Given the description of an element on the screen output the (x, y) to click on. 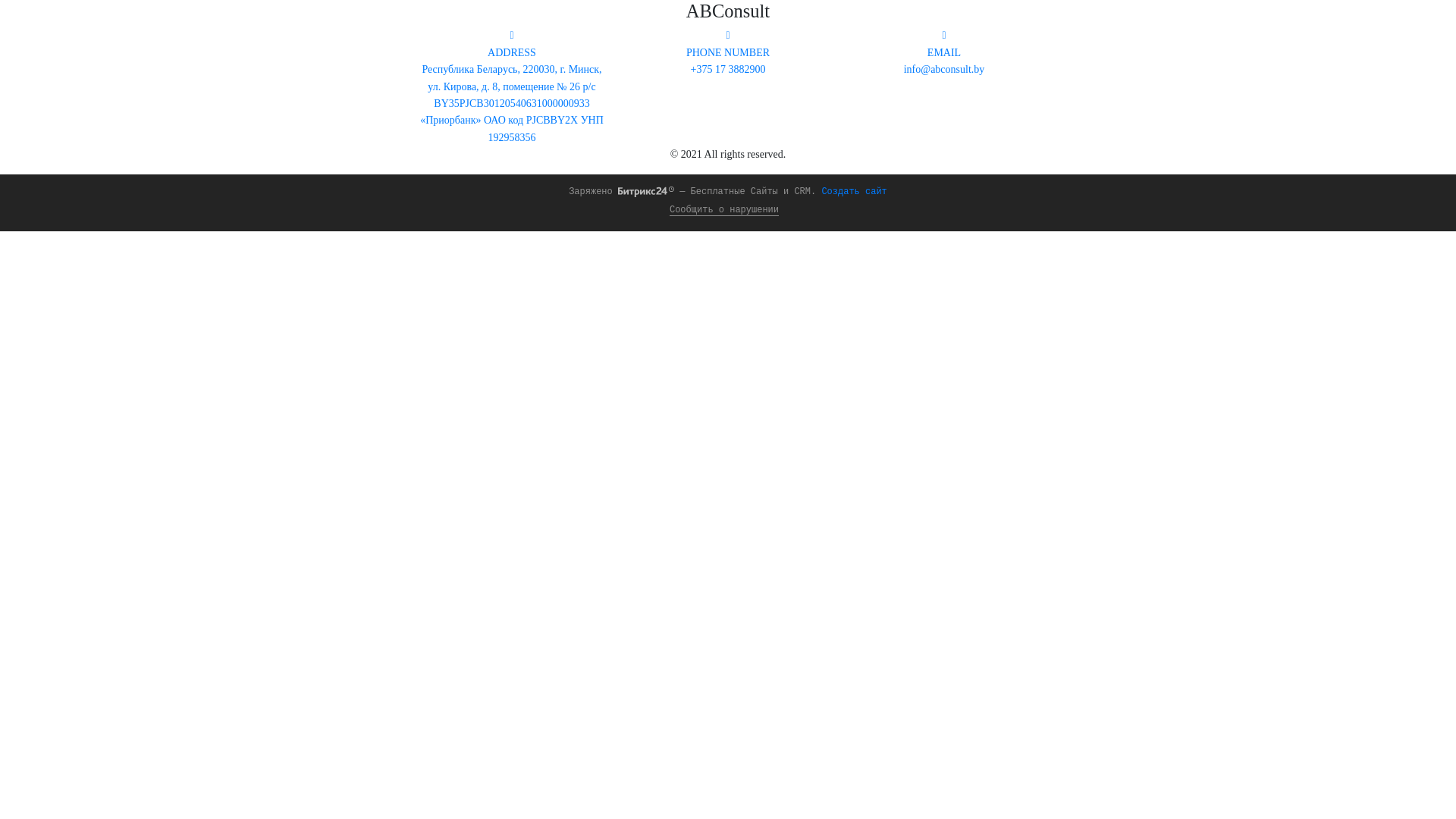
EMAIL
info@abconsult.by Element type: text (944, 51)
PHONE NUMBER
+375 17 3882900 Element type: text (727, 51)
